Given the description of an element on the screen output the (x, y) to click on. 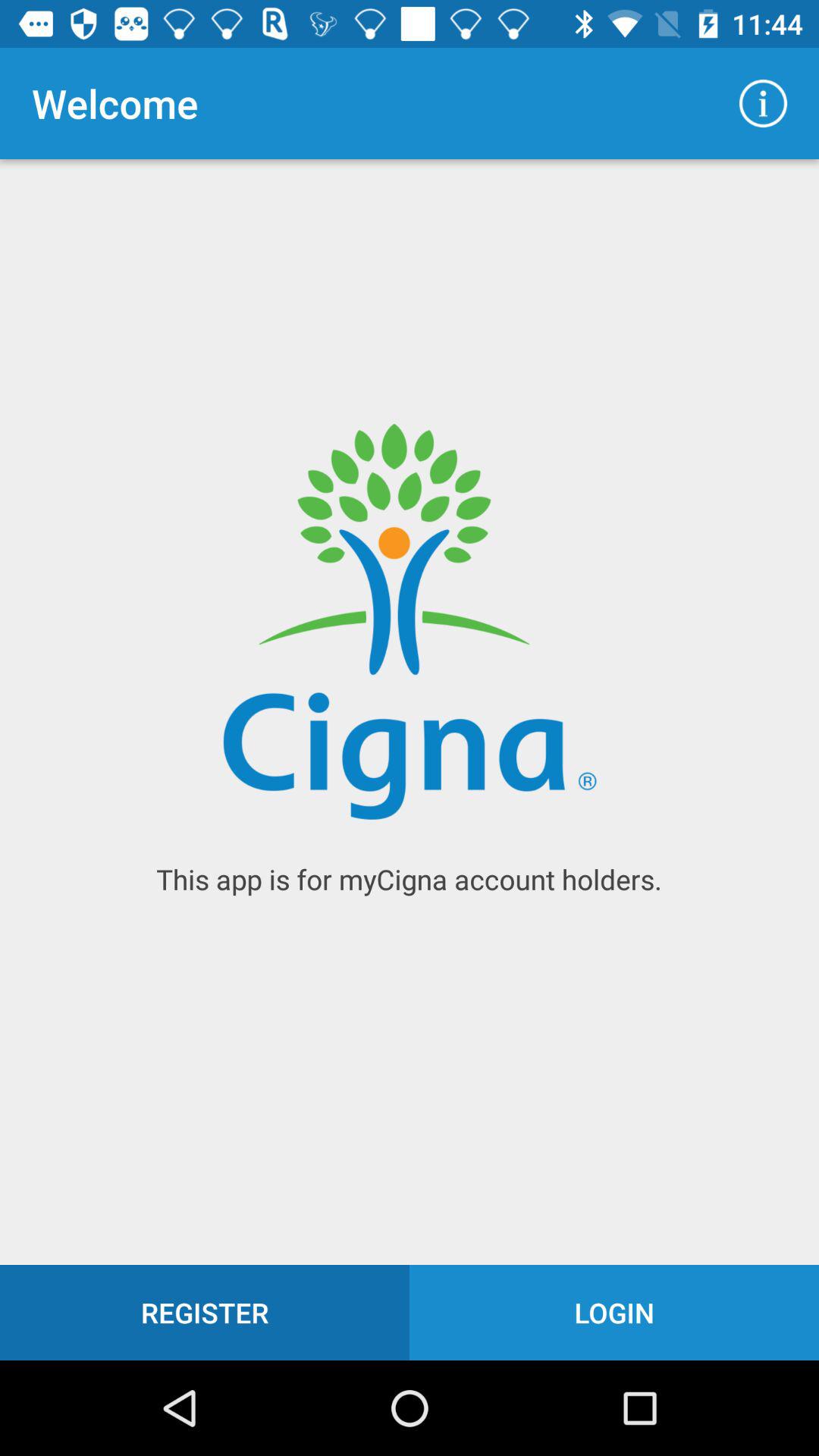
swipe to the login icon (614, 1312)
